Given the description of an element on the screen output the (x, y) to click on. 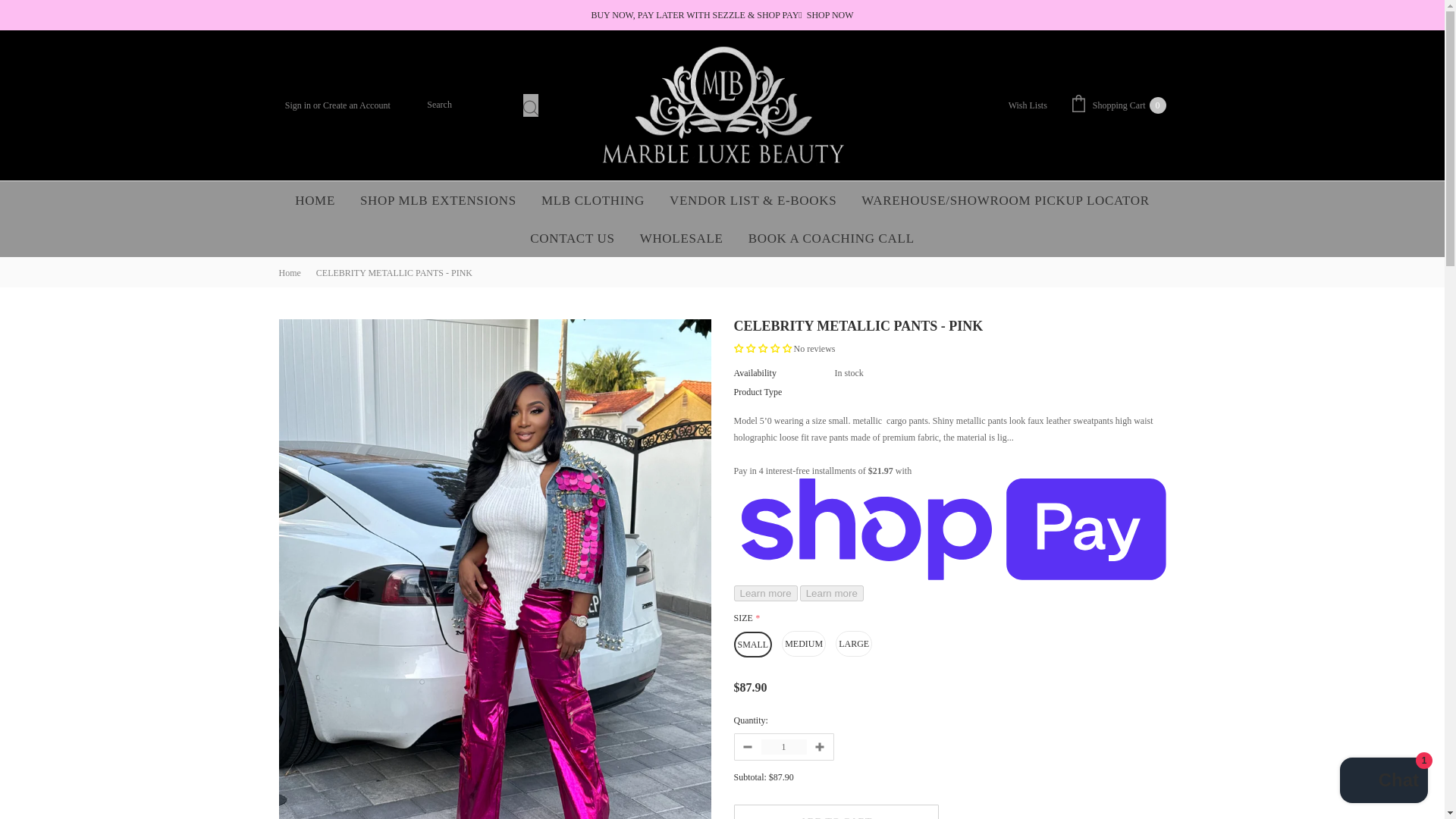
Wish Lists (1027, 105)
HOME (314, 199)
Add to Cart (836, 811)
CONTACT US (1118, 105)
SHOP MLB EXTENSIONS (572, 238)
SHOP NOW (437, 199)
1 (829, 15)
Create an Account (783, 746)
MLB CLOTHING (356, 105)
Sign in (592, 199)
SHOP NOW (299, 105)
